Given the description of an element on the screen output the (x, y) to click on. 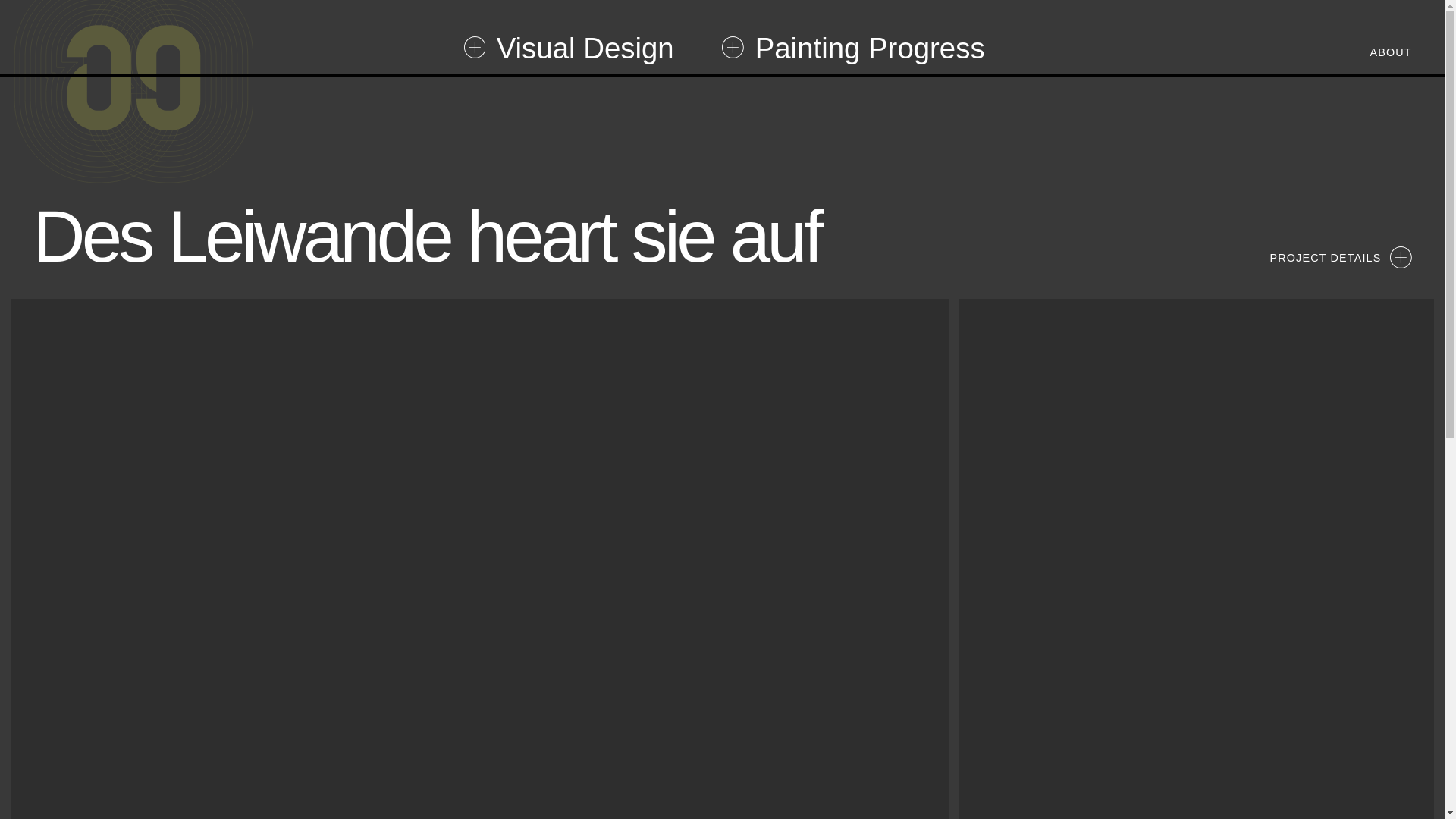
Visual Design (569, 48)
Painting Progress (853, 48)
ABOUT (1390, 51)
PROJECT DETAILS (1339, 257)
